Given the description of an element on the screen output the (x, y) to click on. 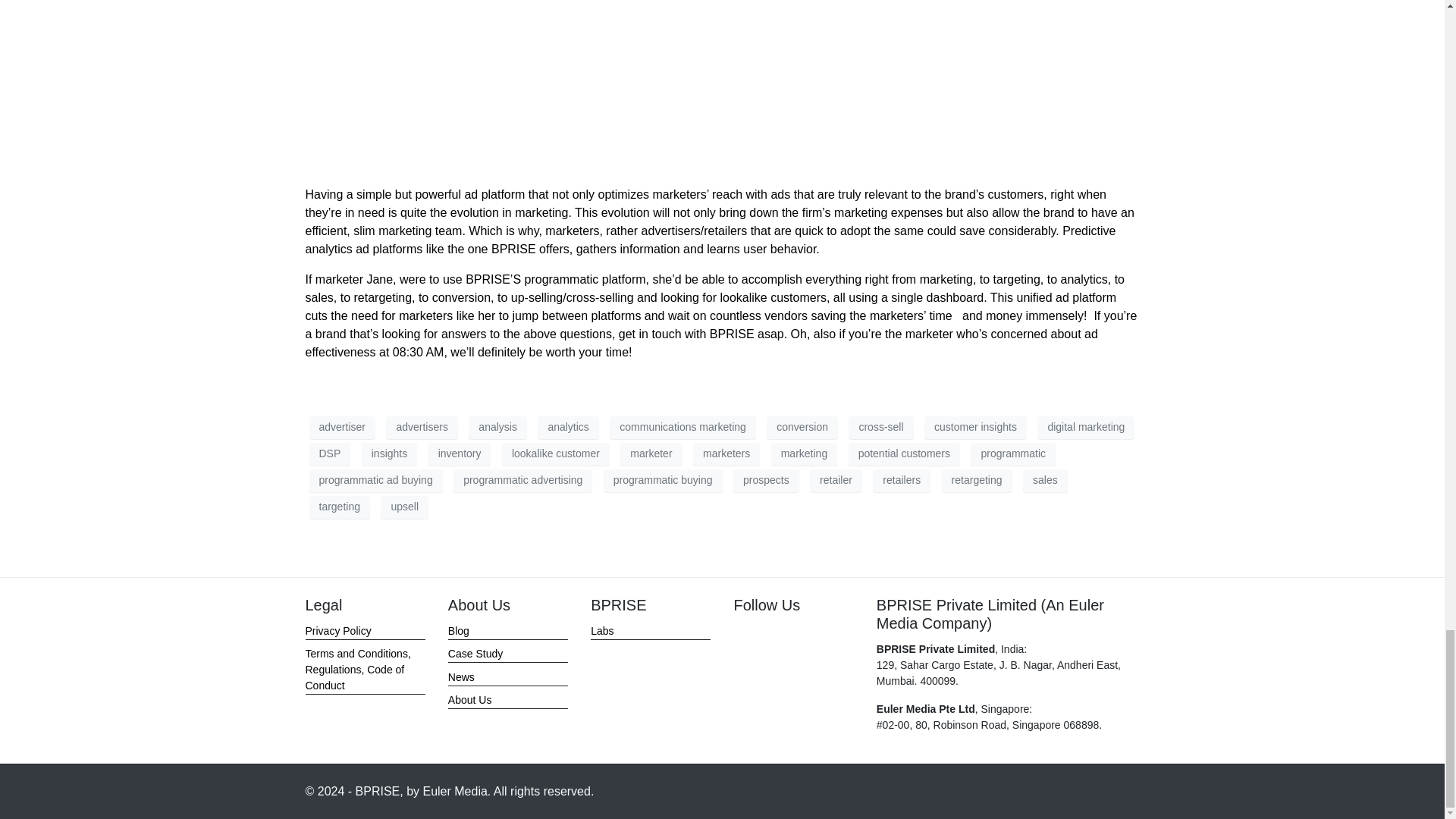
analysis (497, 427)
marketing (804, 454)
insights (388, 454)
programmatic advertising (522, 480)
upsell (404, 507)
DSP (329, 454)
advertisers (421, 427)
inventory (460, 454)
digital marketing (1085, 427)
conversion (802, 427)
